Given the description of an element on the screen output the (x, y) to click on. 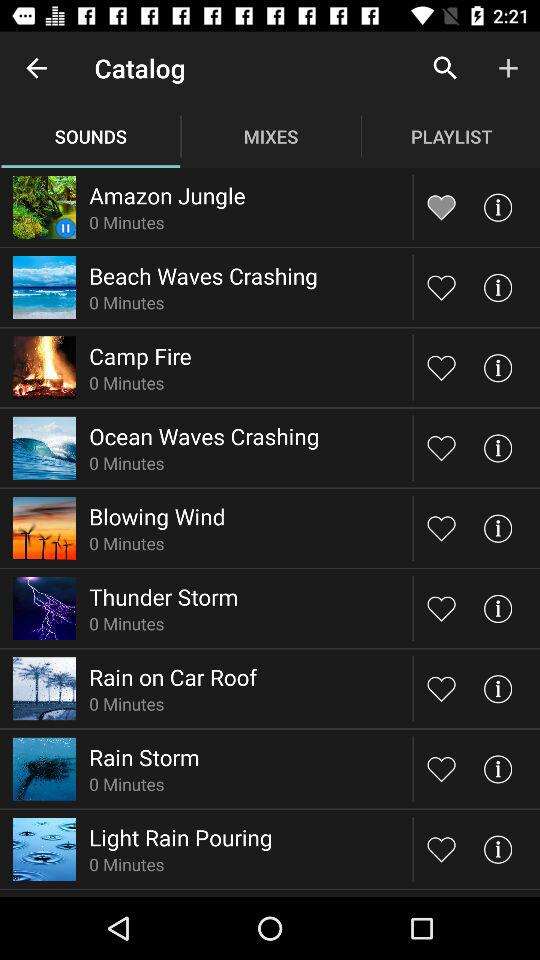
put on favorites (441, 608)
